Given the description of an element on the screen output the (x, y) to click on. 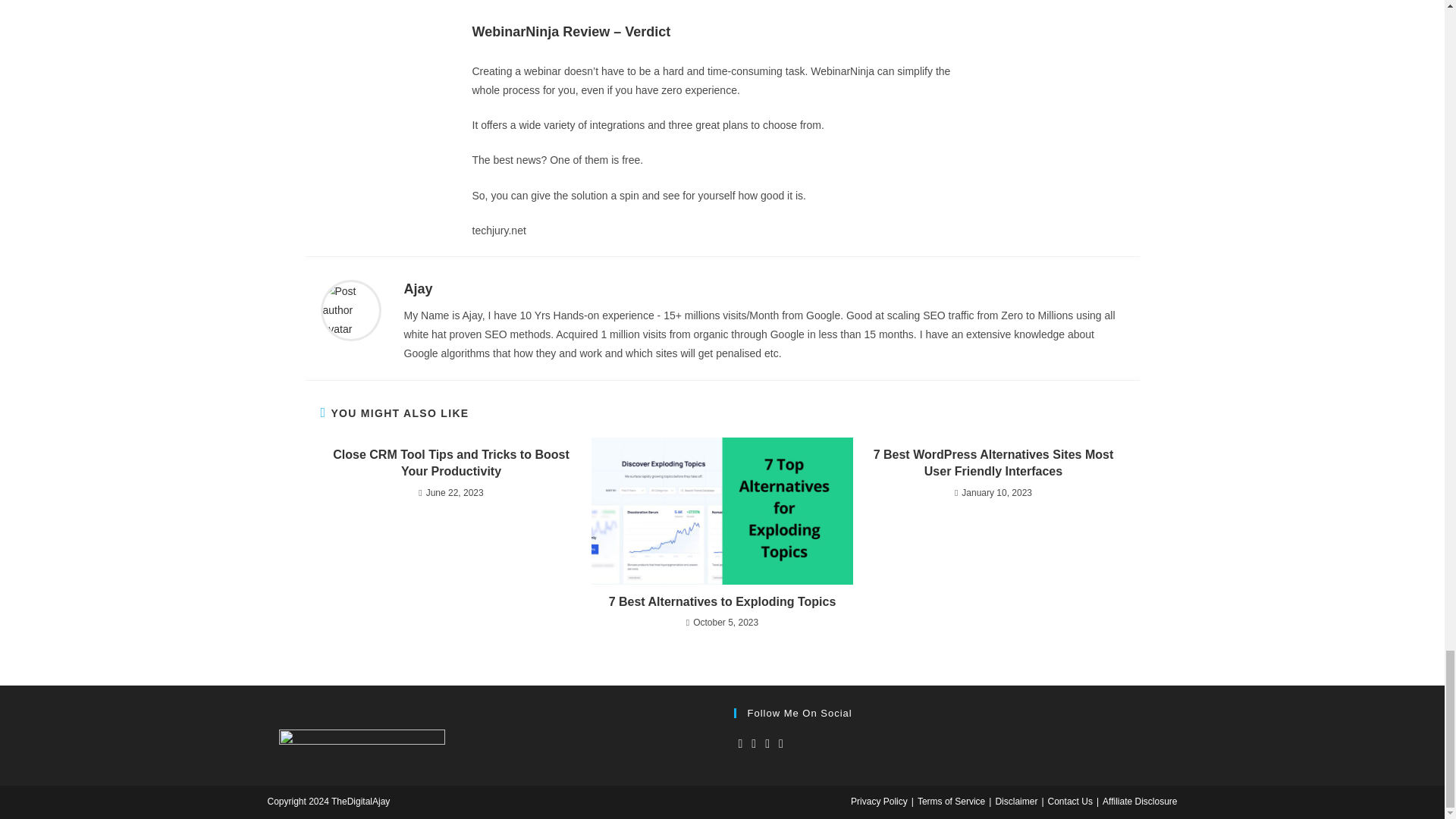
Disclaimer (1015, 801)
Ajay (417, 288)
Contact Us (1070, 801)
Visit author page (417, 288)
Close CRM Tool Tips and Tricks to Boost Your Productivity (450, 463)
Visit author page (350, 309)
7 Best Alternatives to Exploding Topics (721, 601)
Terms of Service (951, 801)
Privacy Policy (878, 801)
